Given the description of an element on the screen output the (x, y) to click on. 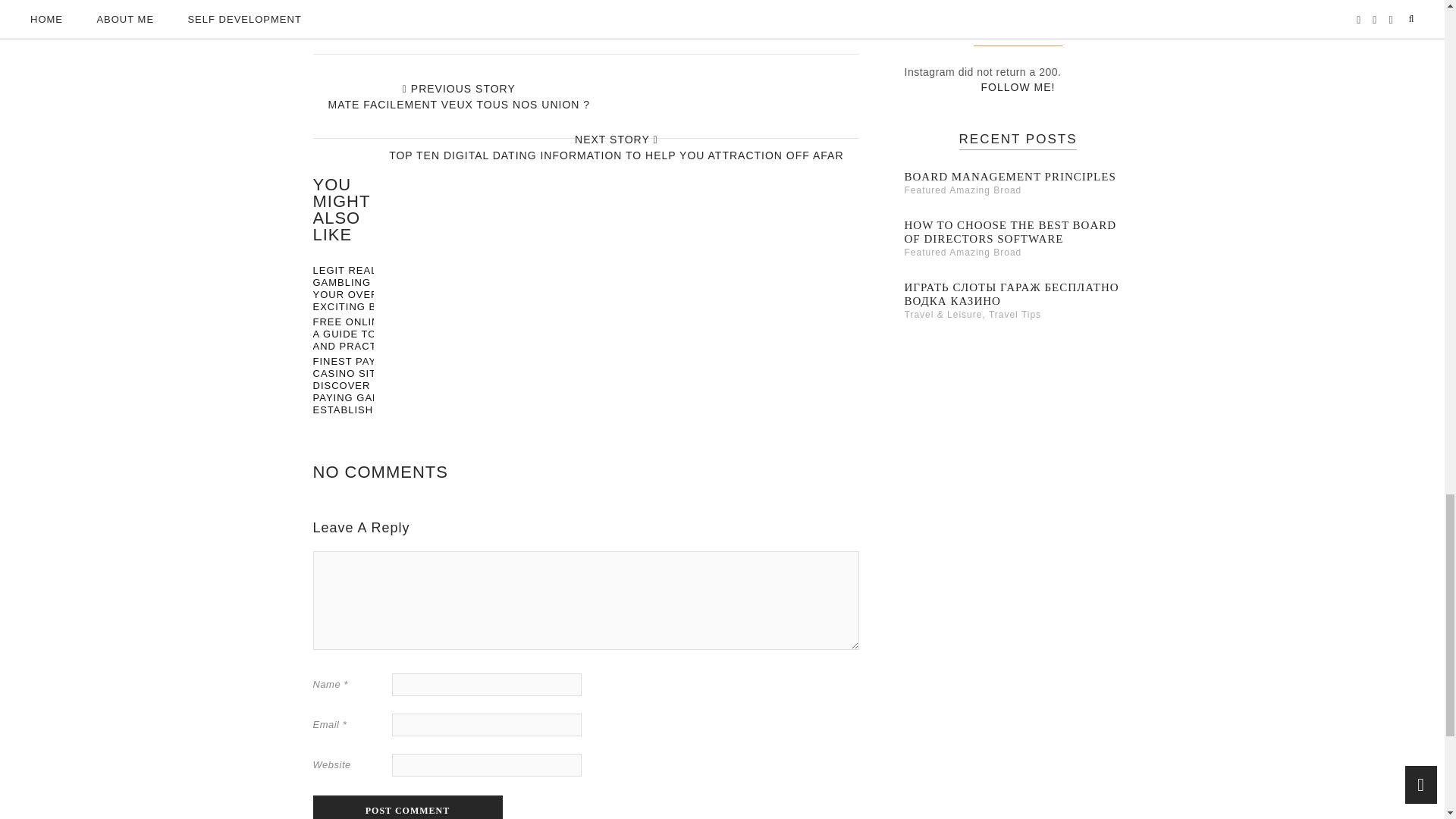
Post Comment (407, 807)
MATE FACILEMENT VEUX TOUS NOS UNION ? (458, 104)
Post Comment (407, 807)
